Given the description of an element on the screen output the (x, y) to click on. 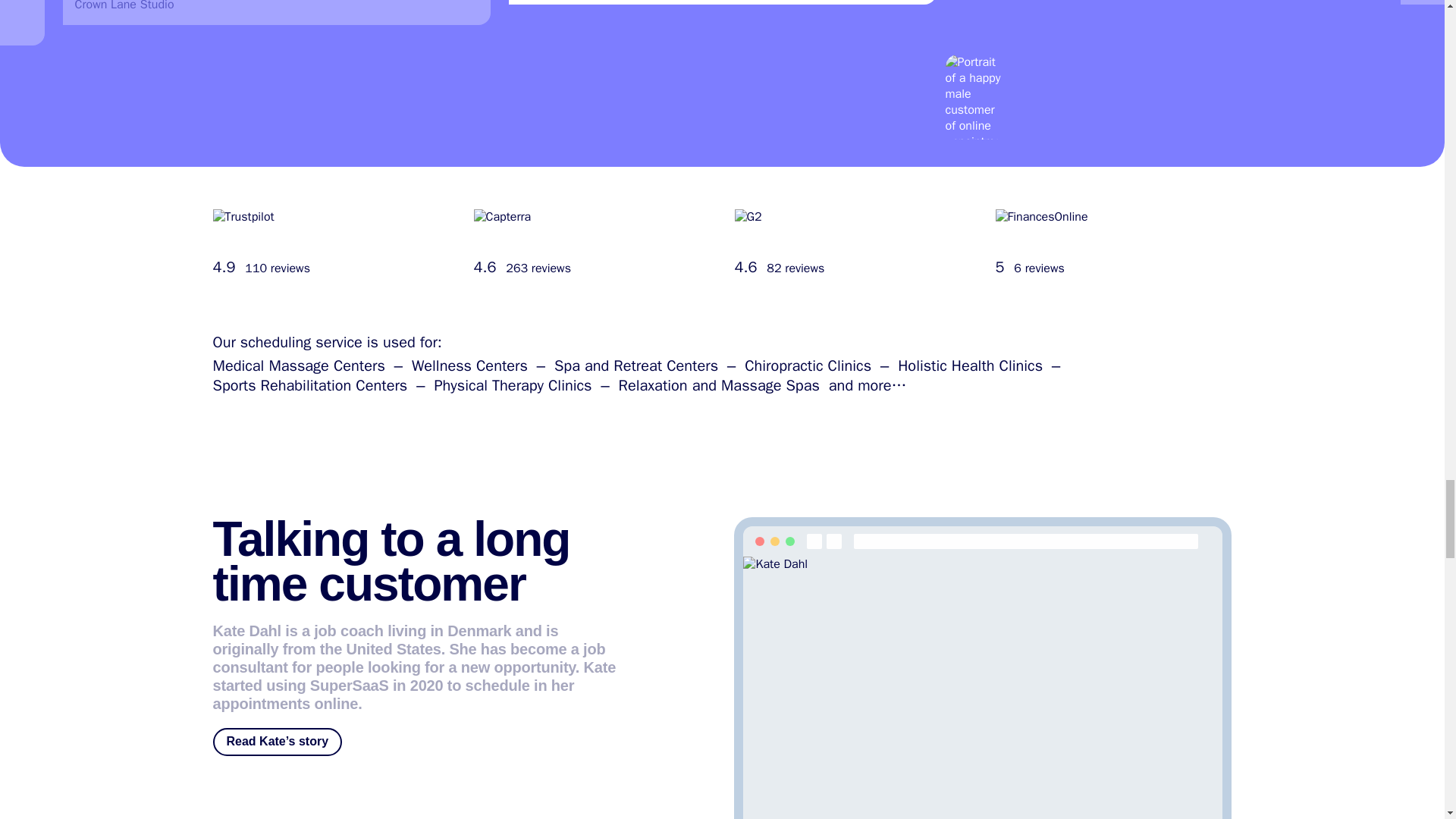
4.6 82 reviews (852, 243)
4.6 263 reviews (591, 243)
5 6 reviews (1112, 243)
4.9 110 reviews (330, 243)
